Given the description of an element on the screen output the (x, y) to click on. 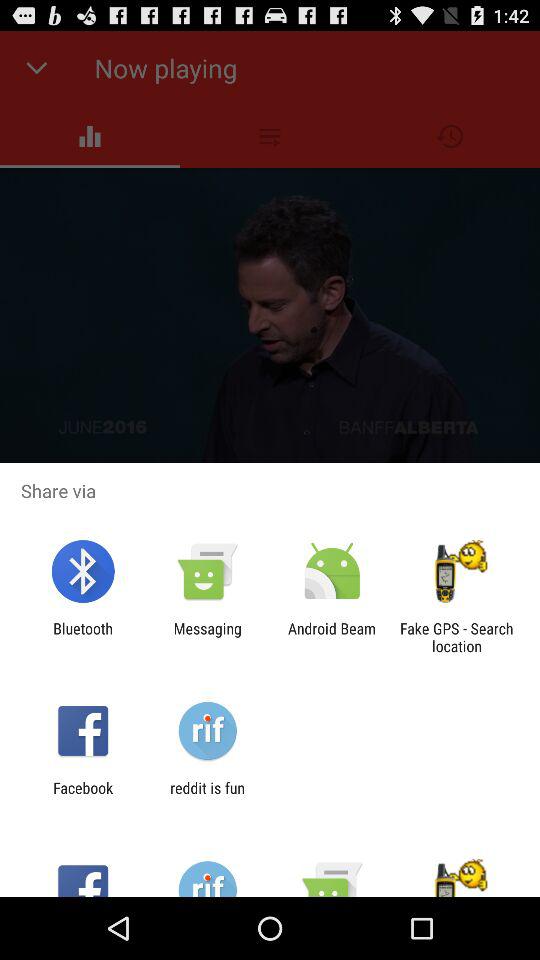
open icon to the left of the reddit is fun icon (83, 796)
